Given the description of an element on the screen output the (x, y) to click on. 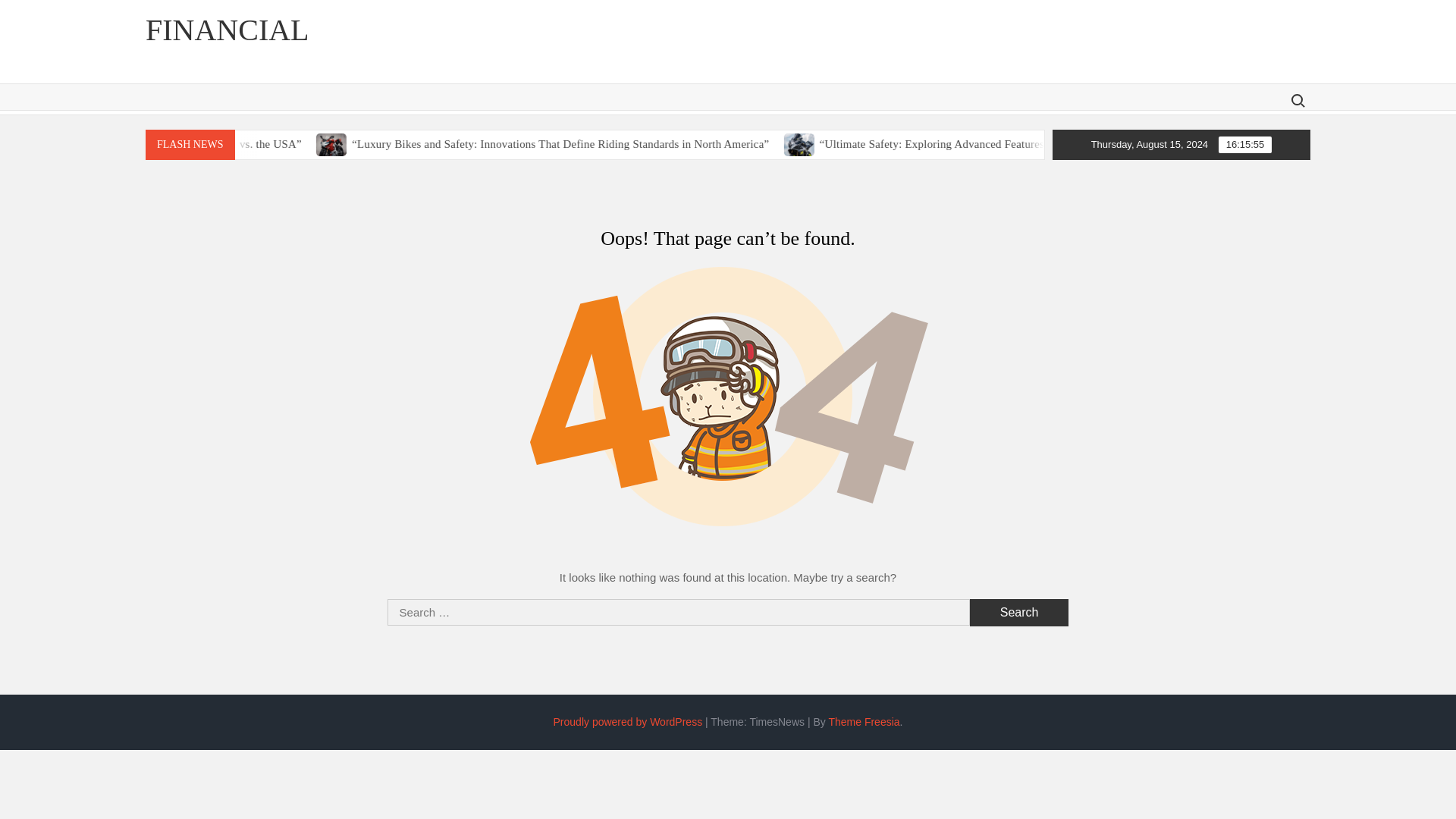
Search (1018, 612)
FINANCIAL (226, 29)
Search (1018, 612)
Search for: (1297, 100)
